Given the description of an element on the screen output the (x, y) to click on. 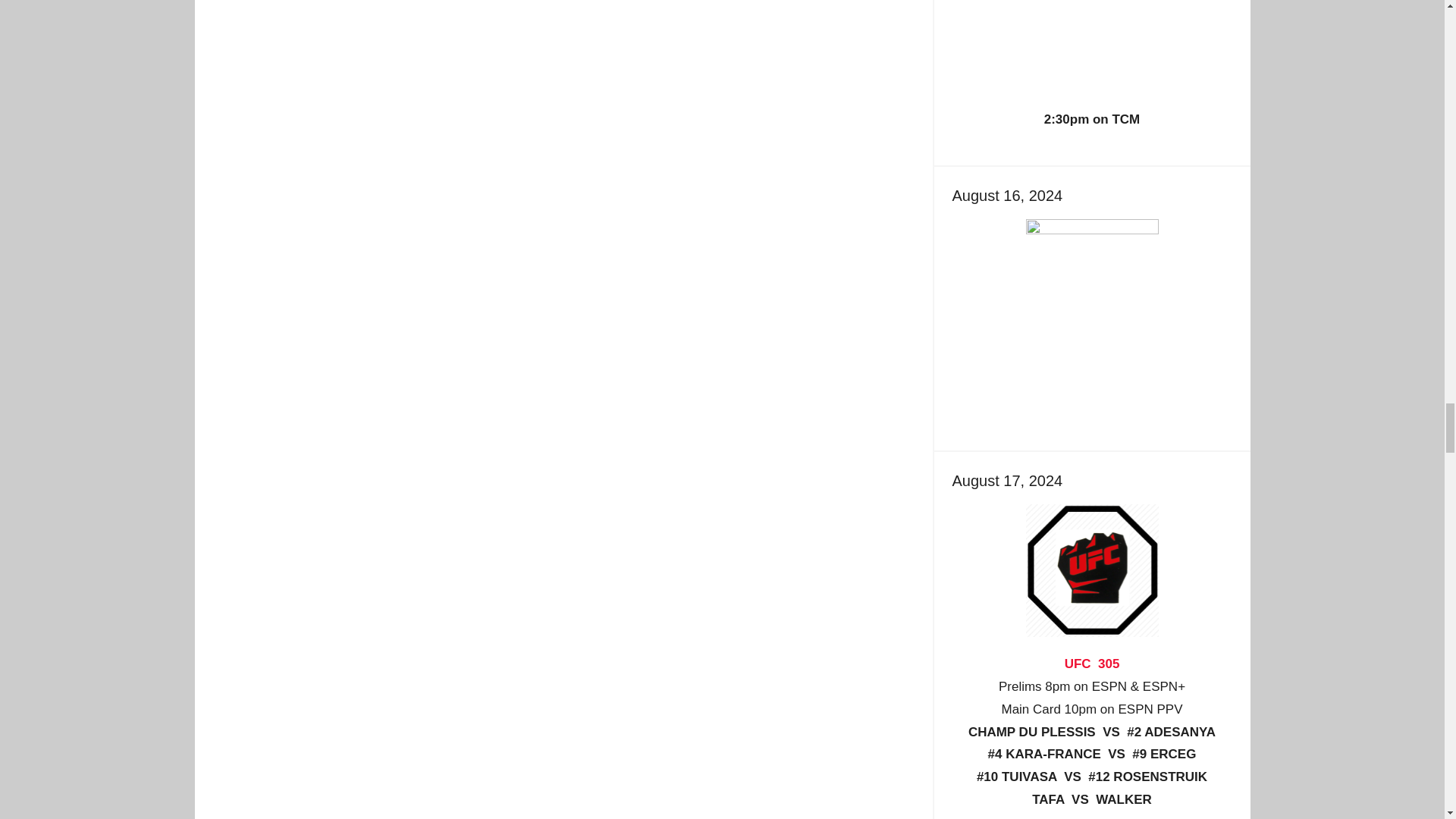
UFC  305 (1091, 663)
